Given the description of an element on the screen output the (x, y) to click on. 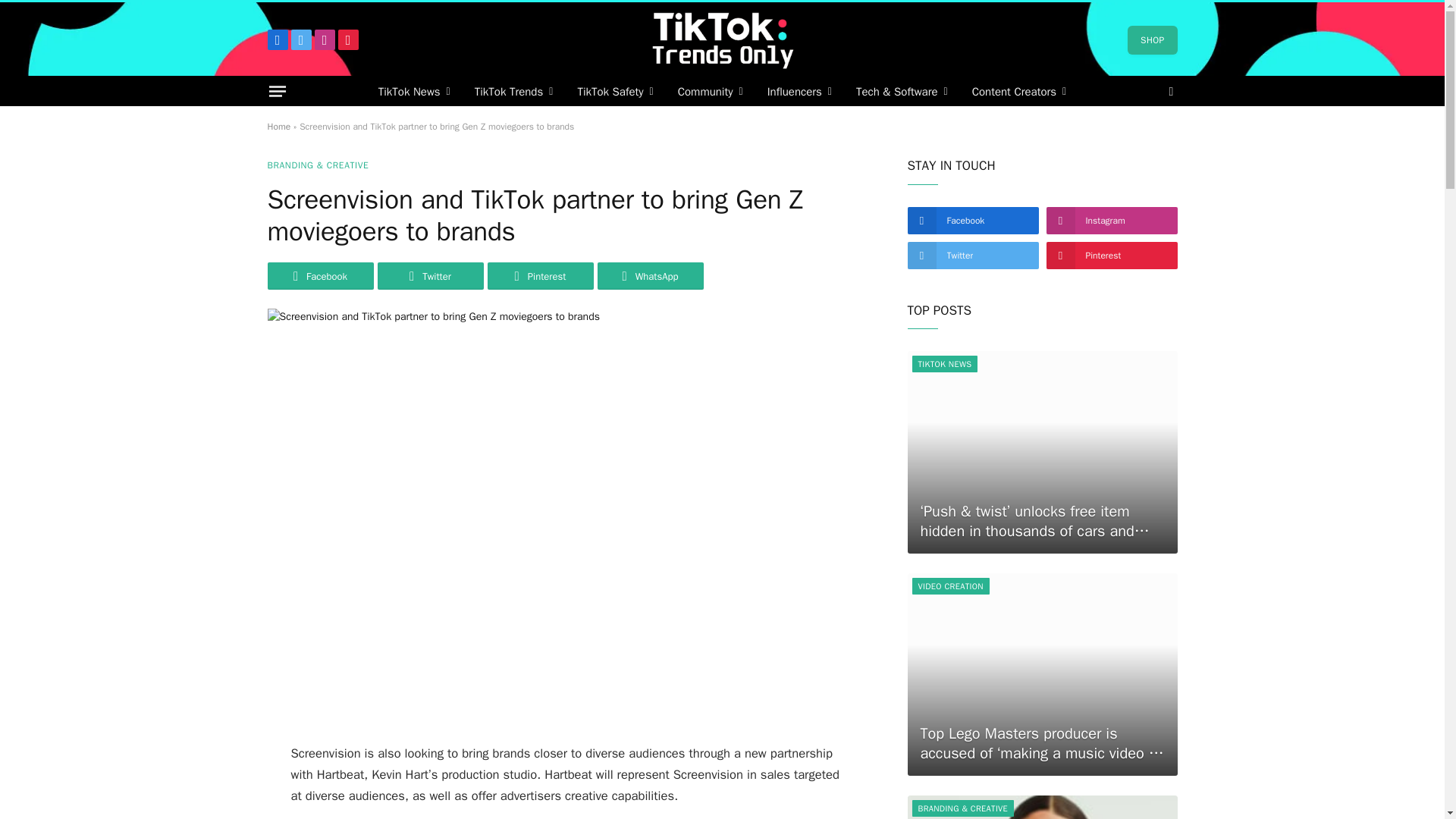
TikTok Trends (514, 91)
SHOP (1151, 39)
Facebook (276, 39)
Pinterest (347, 39)
TikTok Trends Only (721, 39)
TikTok News (414, 91)
Instagram (324, 39)
